Given the description of an element on the screen output the (x, y) to click on. 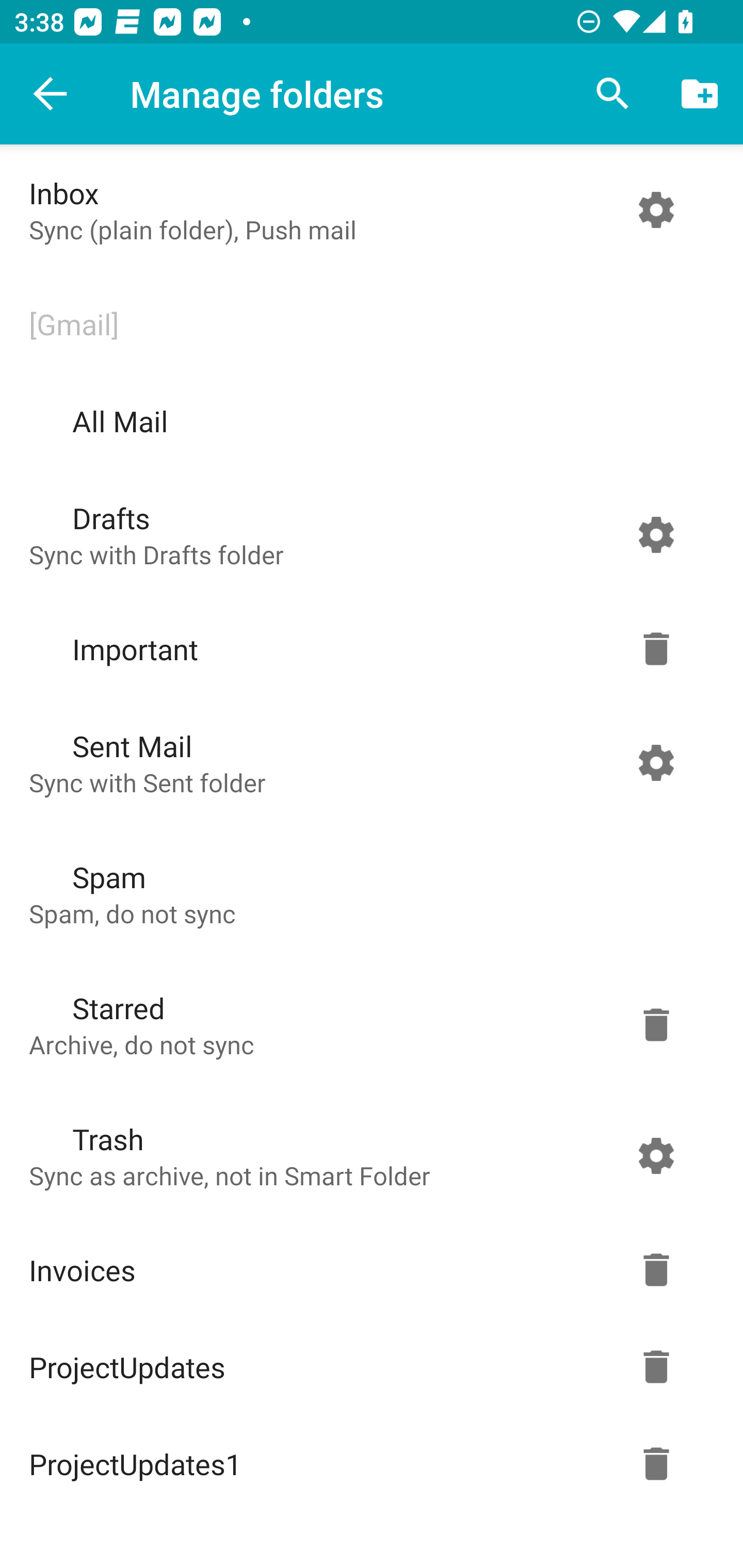
Navigate up (50, 93)
Search folders (612, 93)
Create folder (699, 93)
Folder settings (655, 209)
All Mail (367, 420)
Drafts Sync with Drafts folder Folder settings (367, 534)
Folder settings (655, 534)
Important Folder settings (367, 648)
Folder settings (655, 648)
Sent Mail Sync with Sent folder Folder settings (367, 762)
Folder settings (655, 762)
Spam Spam, do not sync (367, 893)
Starred Archive, do not sync Folder settings (367, 1024)
Folder settings (655, 1024)
Folder settings (655, 1155)
Invoices Folder settings (367, 1269)
Folder settings (655, 1269)
ProjectUpdates Folder settings (367, 1366)
Folder settings (655, 1366)
ProjectUpdates1 Folder settings (367, 1463)
Folder settings (655, 1463)
